Given the description of an element on the screen output the (x, y) to click on. 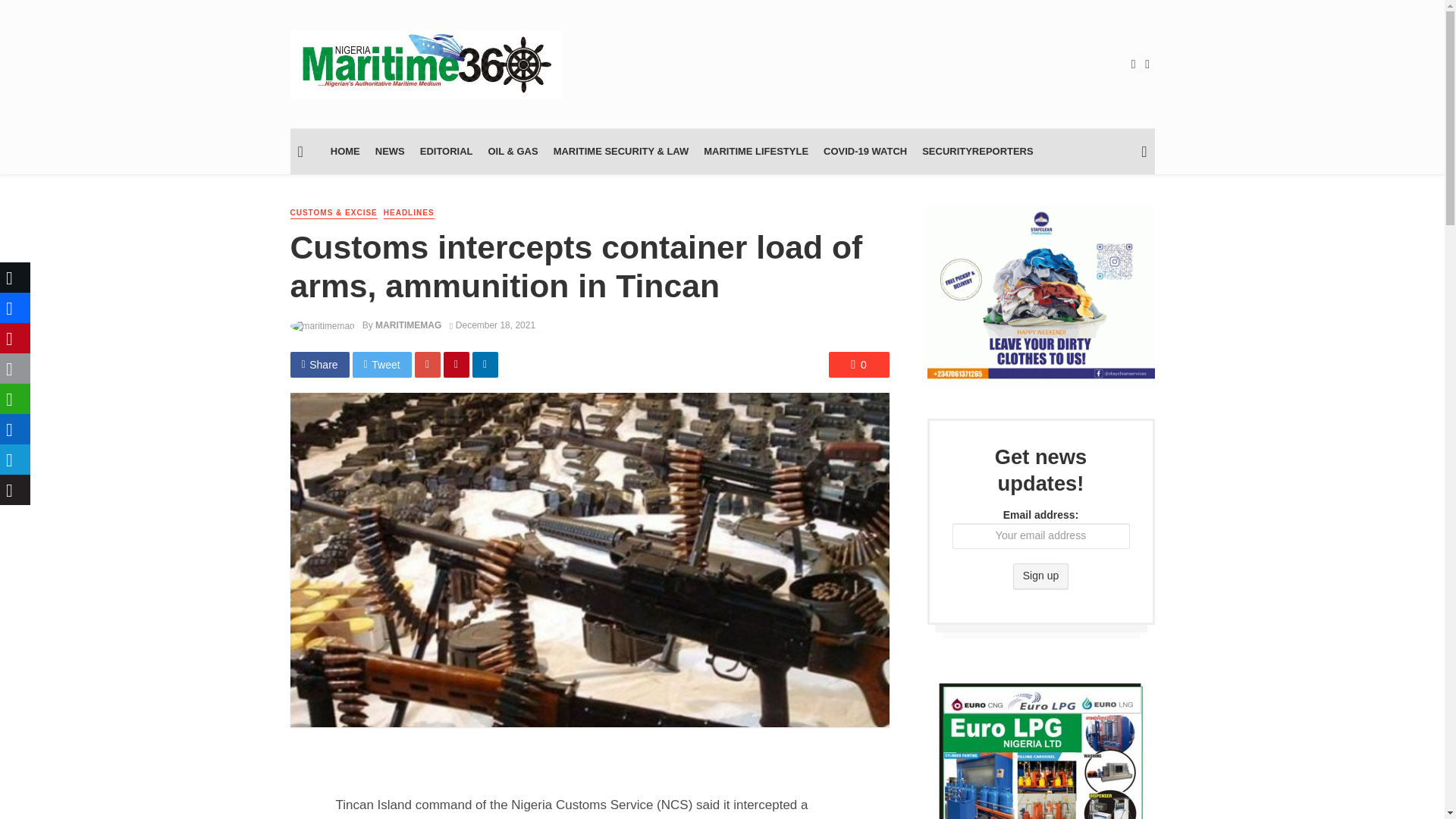
0 (858, 364)
SECURITYREPORTERS (977, 151)
HEADLINES (408, 213)
Share on Twitter (382, 364)
HOME (345, 151)
NEWS (390, 151)
COVID-19 WATCH (864, 151)
Share (319, 364)
Sign up (1040, 575)
0 Comments (858, 364)
December 18, 2021 at 11:30 am (492, 325)
Tweet (382, 364)
Share on Linkedin (484, 364)
EDITORIAL (446, 151)
MARITIMEMAG (408, 325)
